Given the description of an element on the screen output the (x, y) to click on. 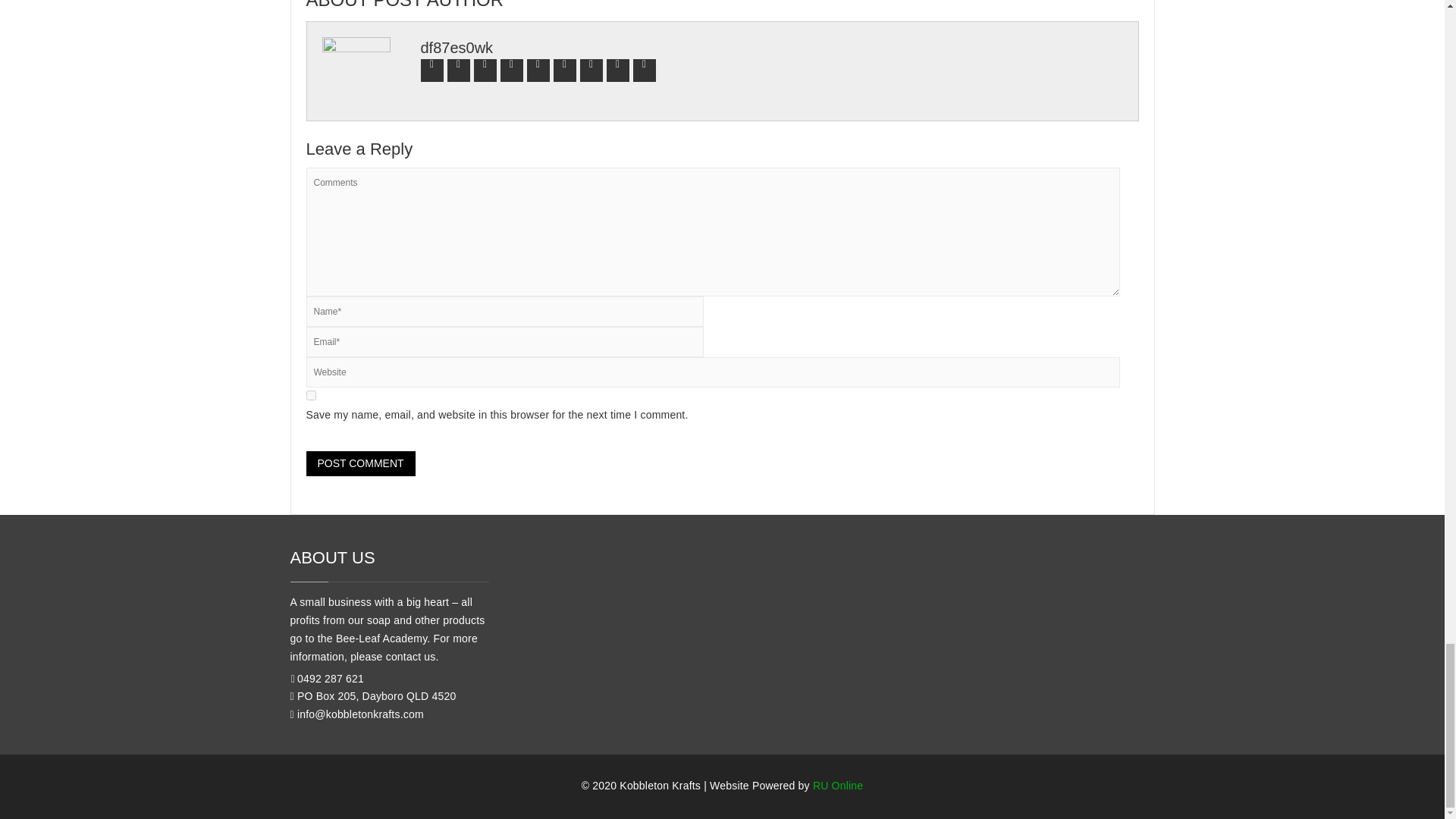
yes (310, 395)
df87es0wk (456, 47)
Posts by df87es0wk (456, 47)
Post Comment (359, 463)
